Given the description of an element on the screen output the (x, y) to click on. 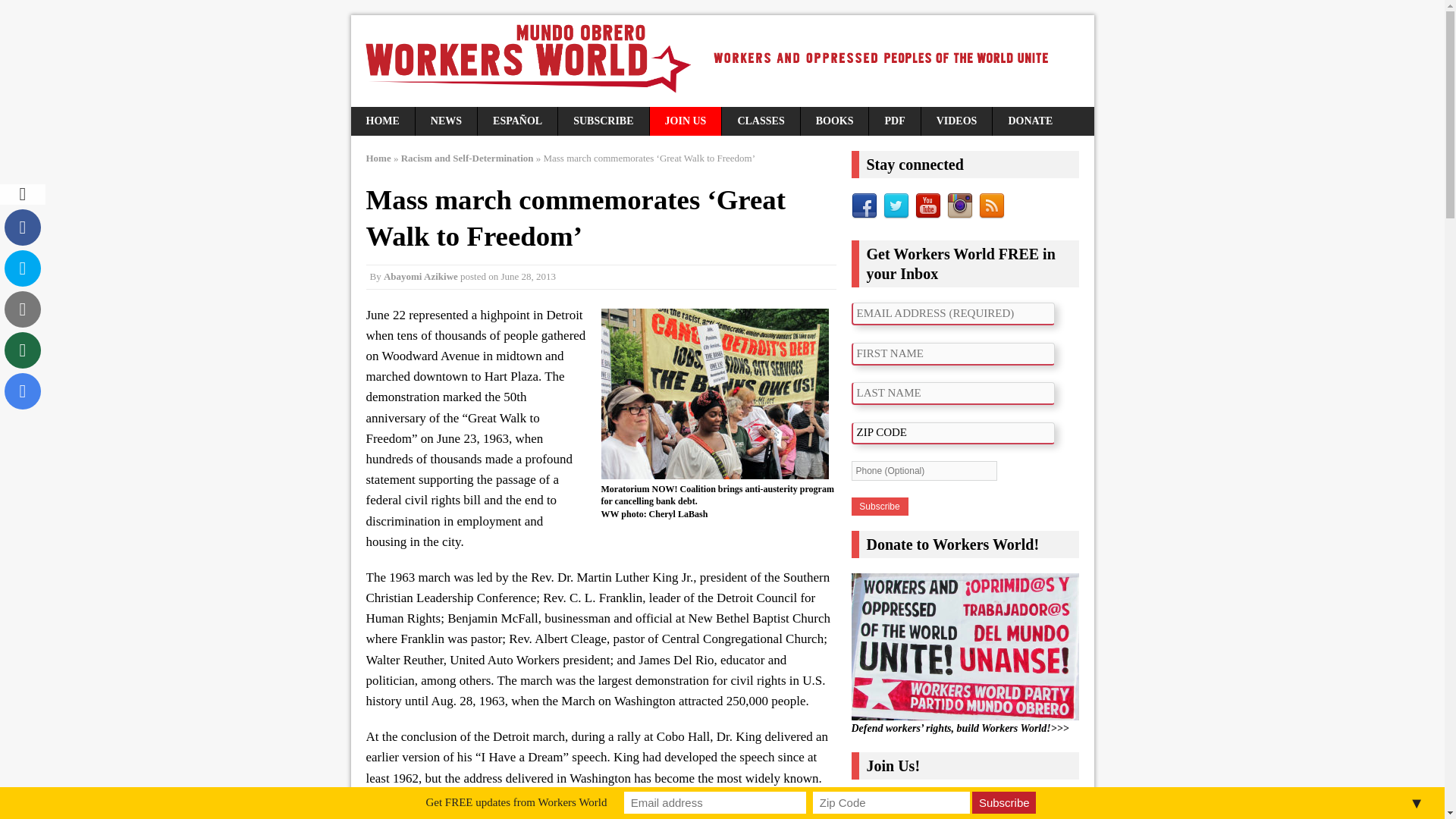
Subscribe (1003, 802)
Subscribe (878, 506)
Workers World (721, 61)
